Given the description of an element on the screen output the (x, y) to click on. 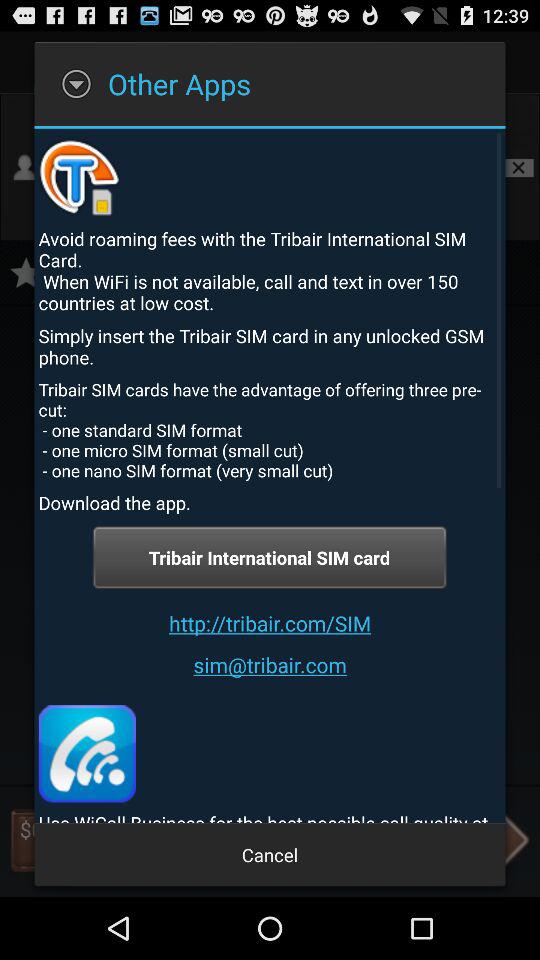
open app below the use wicall business item (269, 854)
